Given the description of an element on the screen output the (x, y) to click on. 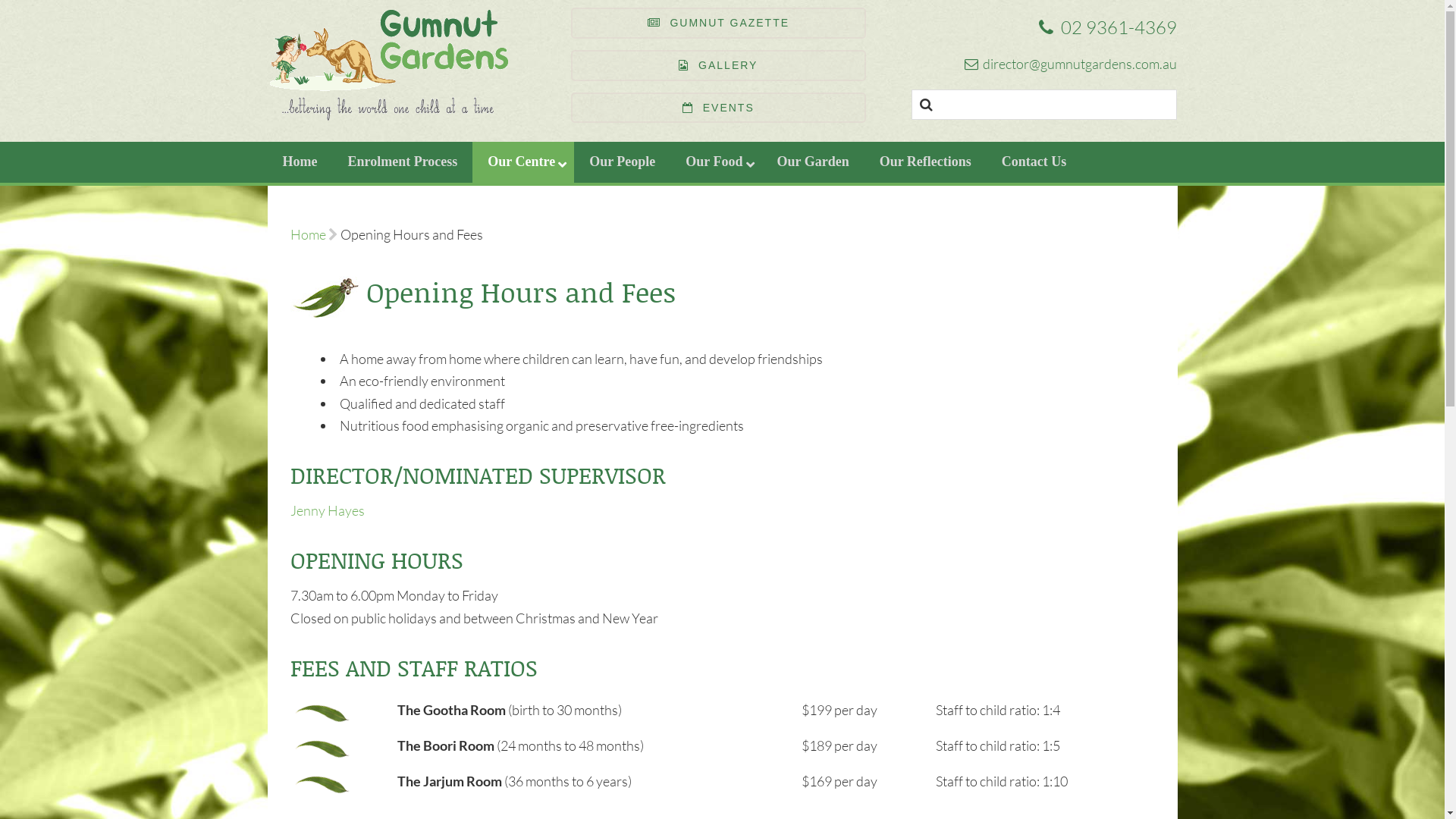
Our Food Element type: text (715, 161)
  EVENTS Element type: text (718, 107)
Home Element type: text (307, 233)
Contact Us Element type: text (1034, 161)
  GUMNUT GAZETTE Element type: text (718, 22)
Our People Element type: text (622, 161)
  02 9361-4369 Element type: text (1029, 27)
Search Element type: text (30, 15)
Gumnut Gardens Element type: text (402, 64)
Our Garden Element type: text (812, 161)
Jenny Hayes Element type: text (326, 510)
Our Reflections Element type: text (925, 161)
  GALLERY Element type: text (718, 65)
Our Centre Element type: text (523, 161)
  director@gumnutgardens.com.au Element type: text (1029, 63)
Home Element type: text (299, 161)
Enrolment Process Element type: text (402, 161)
